Given the description of an element on the screen output the (x, y) to click on. 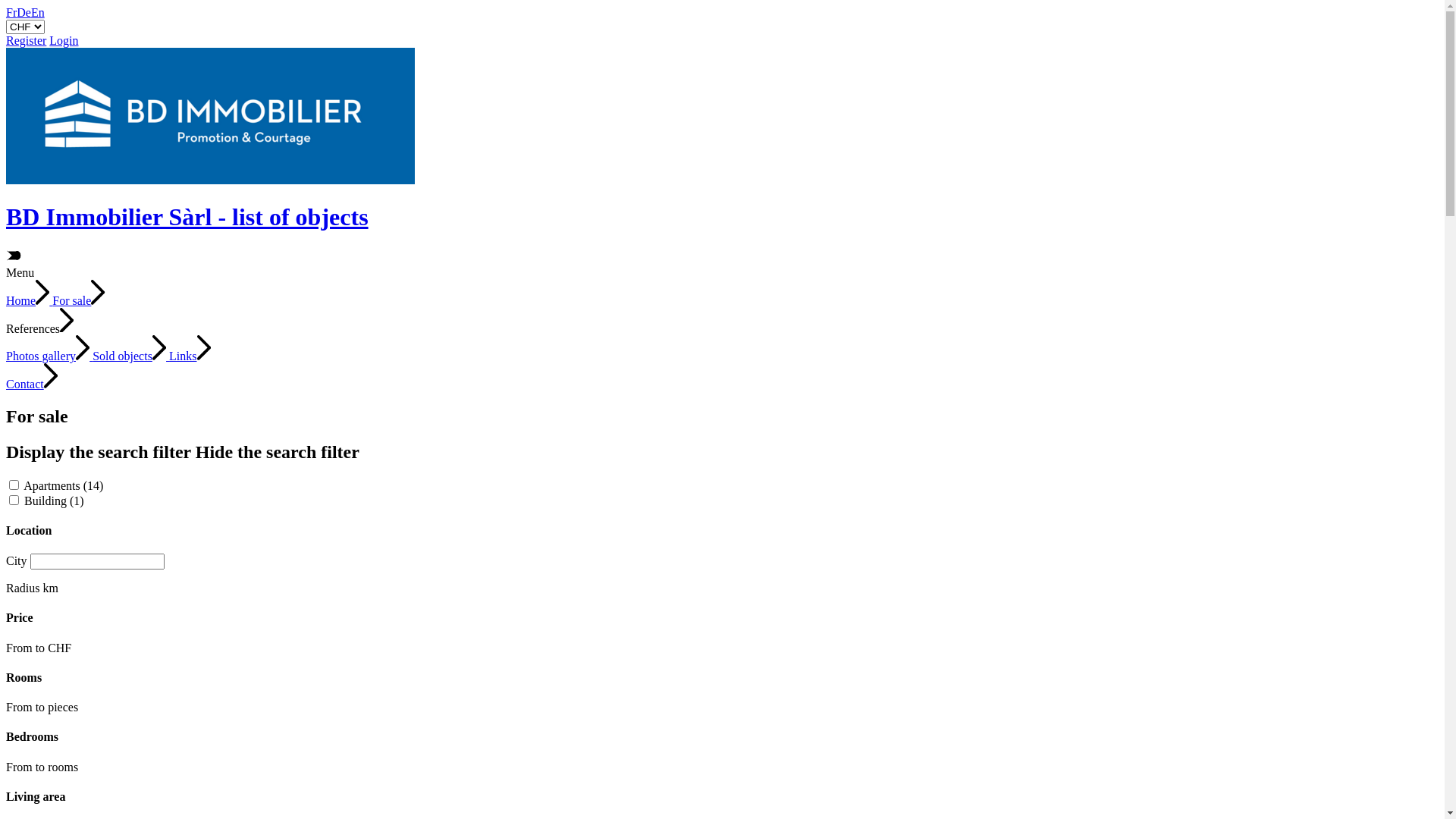
En Element type: text (37, 12)
Links Element type: text (189, 355)
For sale Element type: text (78, 300)
Sold objects Element type: text (130, 355)
Fr Element type: text (11, 12)
Home Element type: text (29, 300)
Login Element type: text (63, 40)
Register Element type: text (26, 40)
Contact Element type: text (31, 383)
De Element type: text (23, 12)
Photos gallery Element type: text (49, 355)
